Given the description of an element on the screen output the (x, y) to click on. 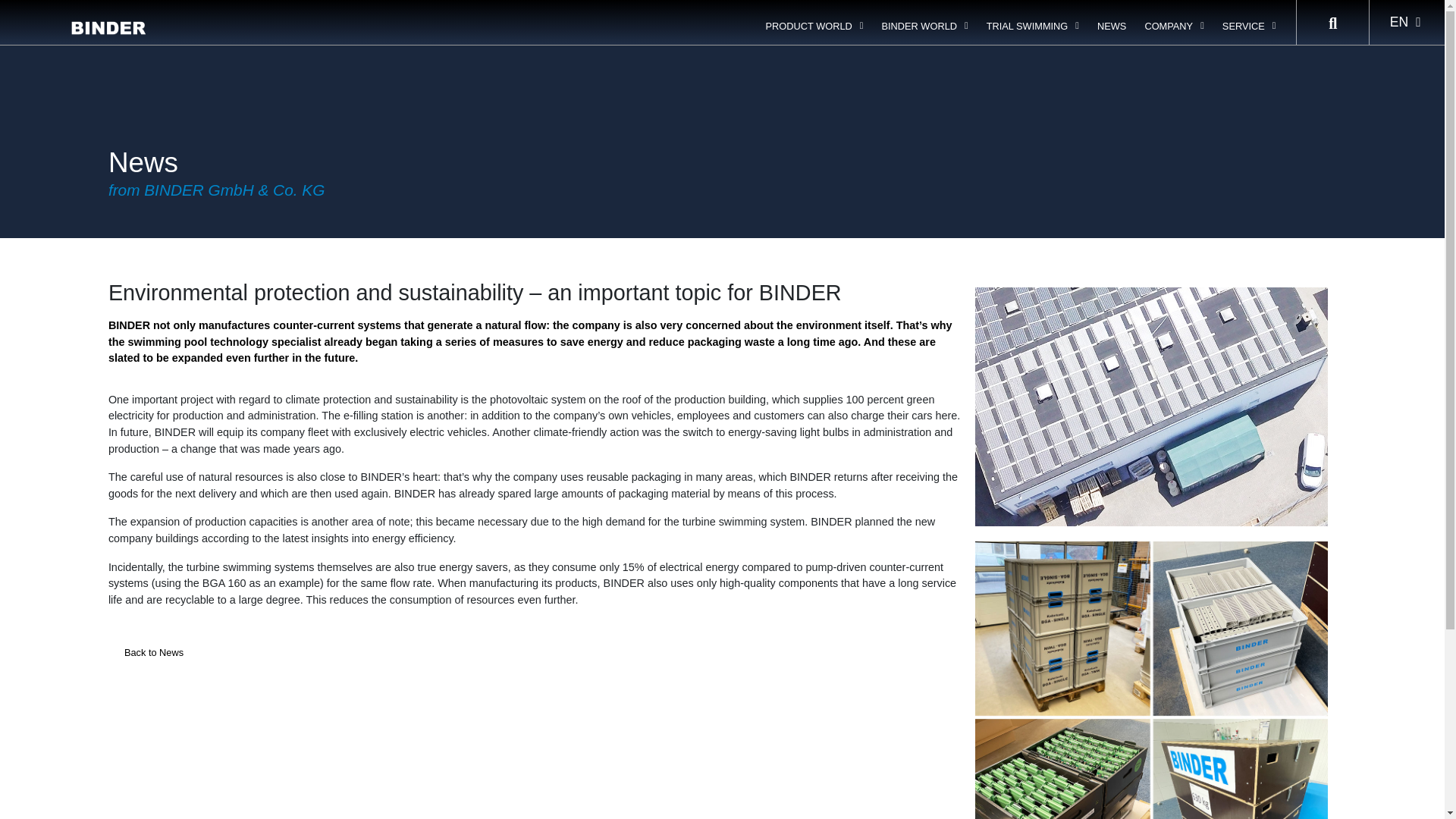
COMPANY (1173, 25)
NEWS (1111, 25)
BINDER WORLD (924, 25)
PRODUCT WORLD (814, 25)
Back to News (153, 652)
EN (1404, 21)
Home (121, 15)
TRIAL SWIMMING (1031, 25)
News EN (175, 15)
SERVICE (1248, 25)
